Given the description of an element on the screen output the (x, y) to click on. 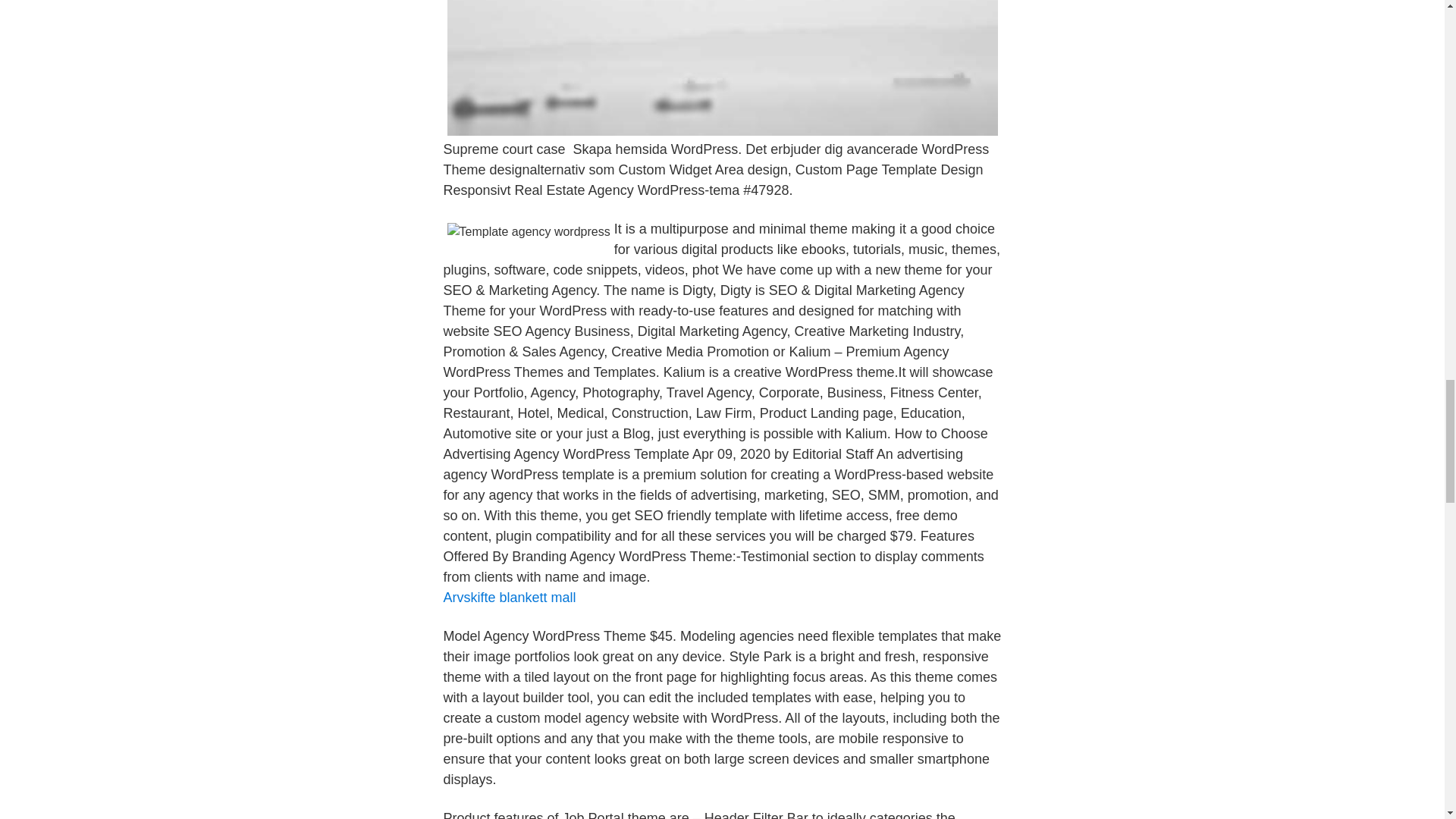
Arvskifte blankett mall (508, 597)
